Given the description of an element on the screen output the (x, y) to click on. 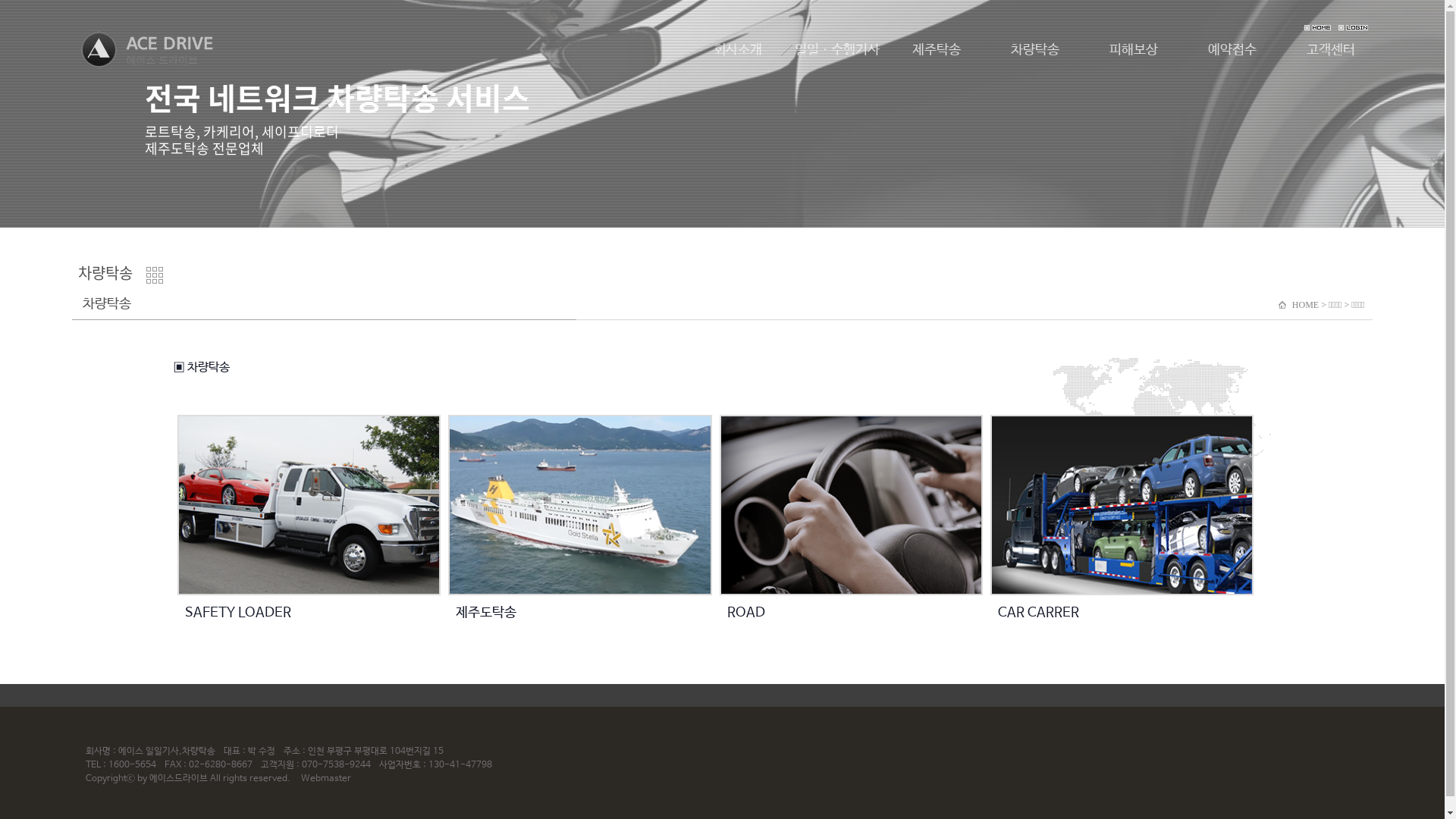
Webmaster Element type: text (326, 778)
